Given the description of an element on the screen output the (x, y) to click on. 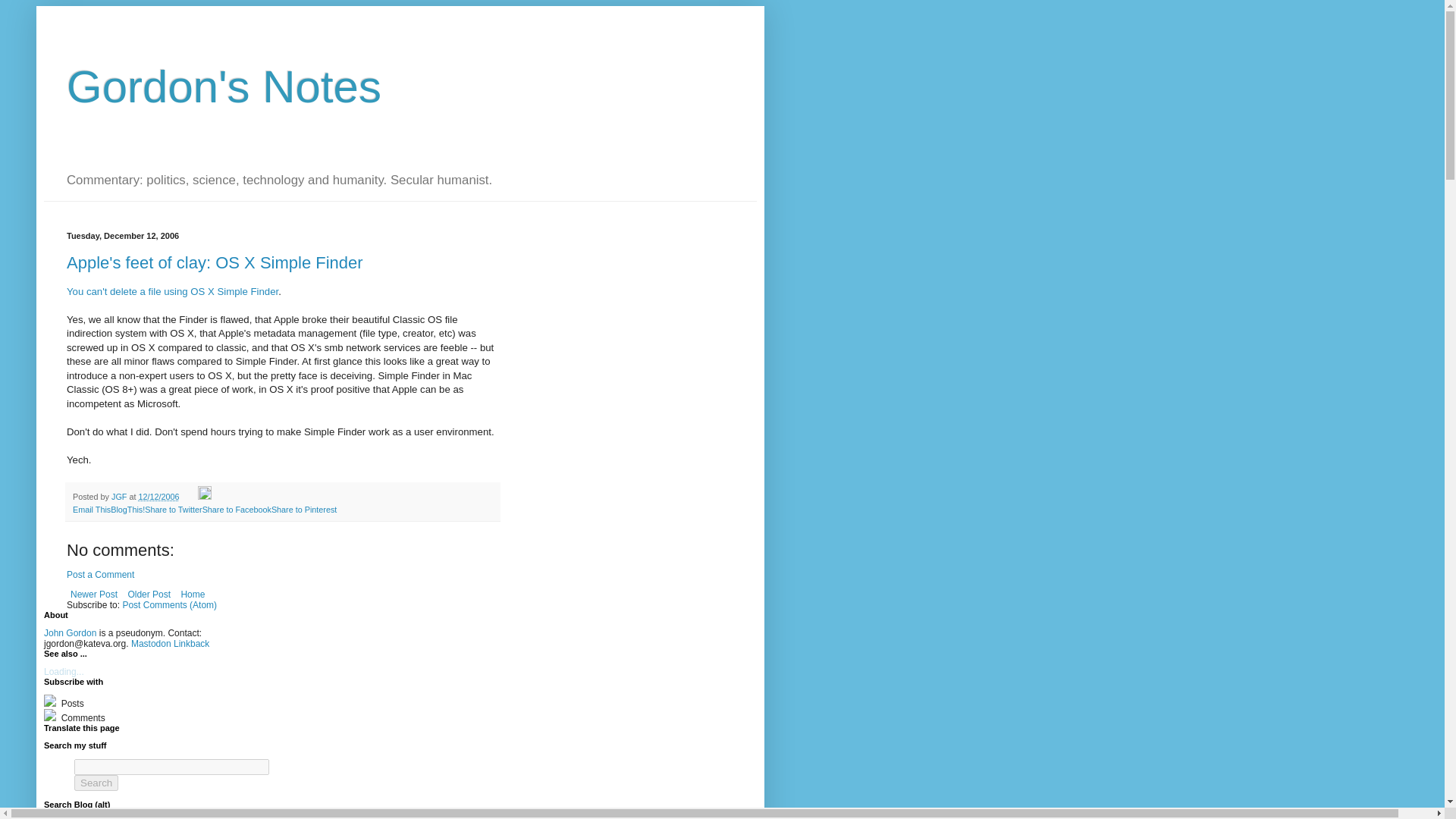
Email Post (190, 496)
author profile (120, 496)
BlogThis! (127, 509)
Loading... (63, 671)
search (80, 818)
Edit Post (203, 496)
Apple's feet of clay: OS X Simple Finder (214, 262)
BlogThis! (127, 509)
Search (95, 782)
Share to Pinterest (303, 509)
Search (139, 818)
Older Post (148, 594)
Email This (91, 509)
Share to Twitter (173, 509)
Share to Facebook (236, 509)
